Given the description of an element on the screen output the (x, y) to click on. 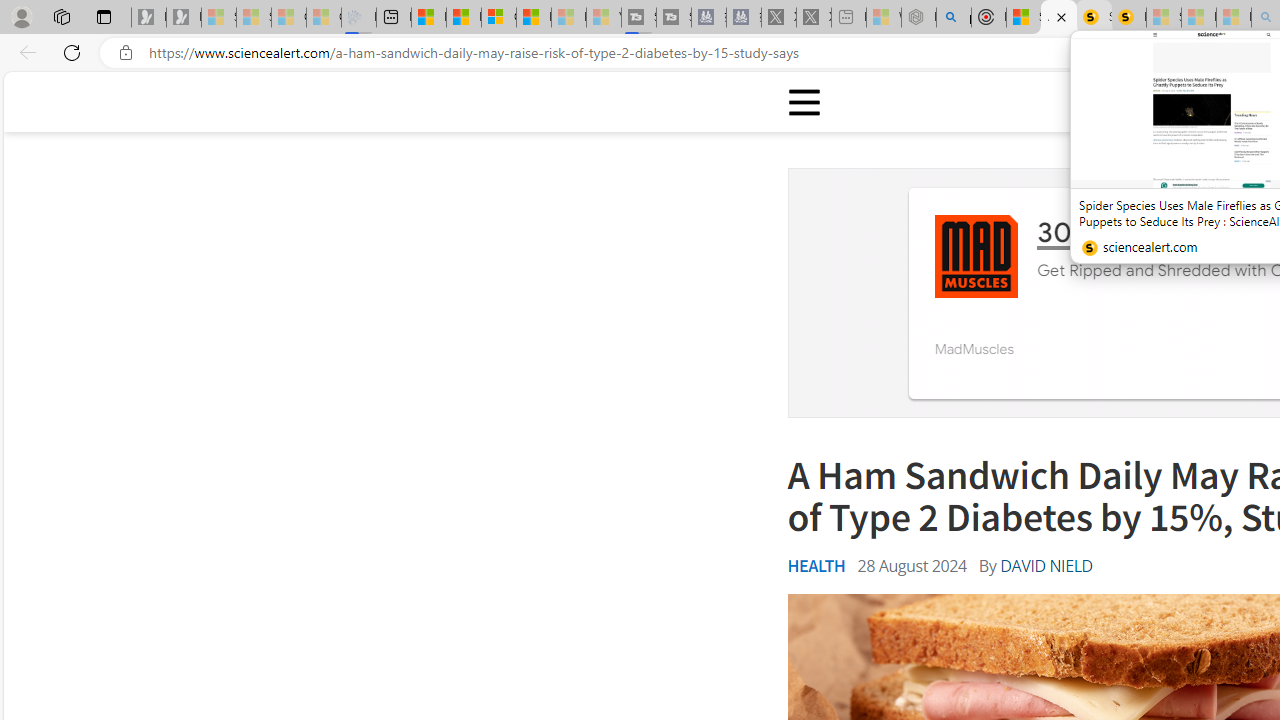
Wildlife - MSN - Sleeping (883, 17)
New tab - Sleeping (849, 17)
Nordace - Summer Adventures 2024 - Sleeping (918, 17)
HEALTH (816, 565)
X - Sleeping (813, 17)
